Given the description of an element on the screen output the (x, y) to click on. 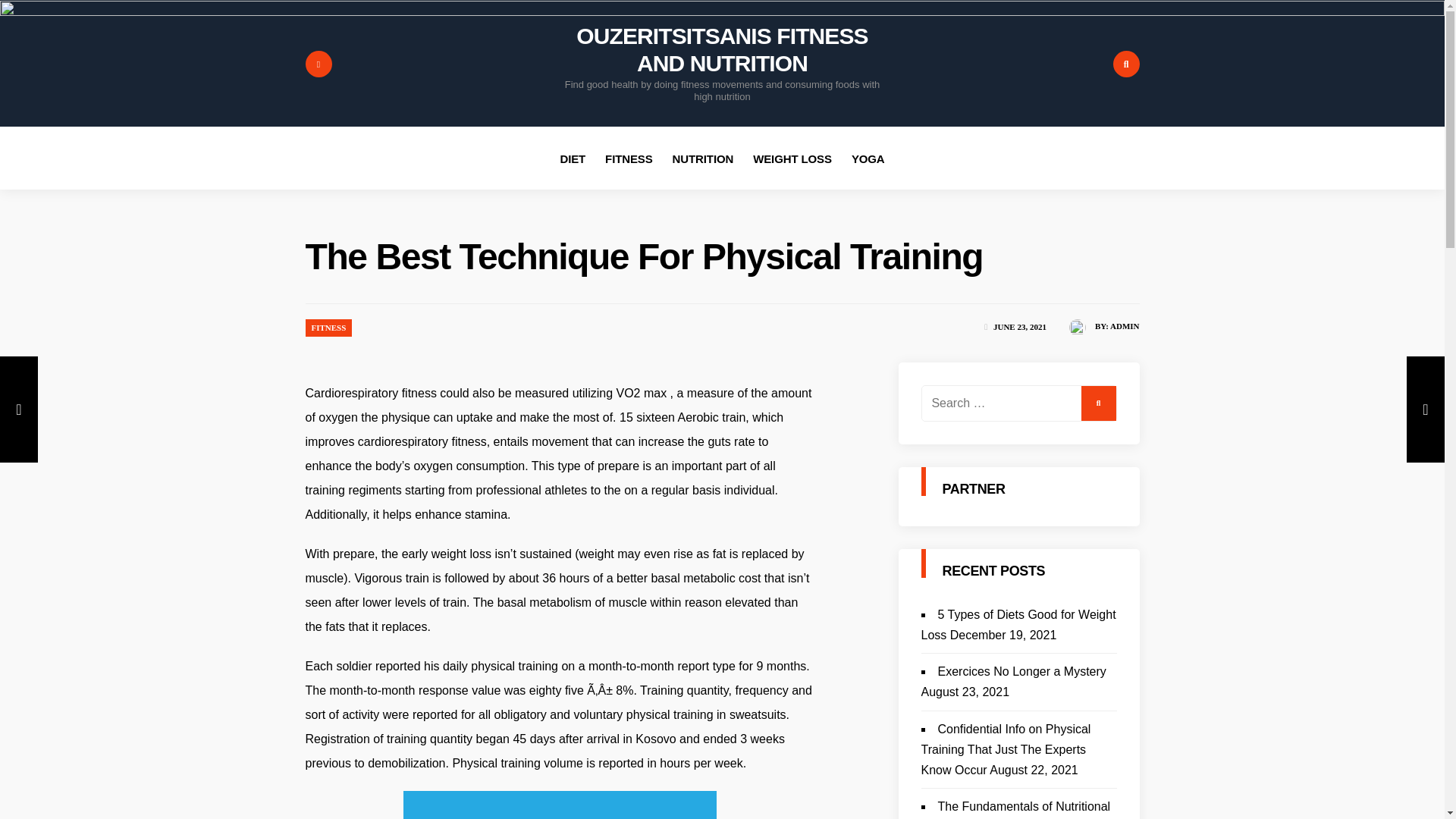
Posts by admin (1124, 325)
OUZERITSITSANIS FITNESS AND NUTRITION (721, 49)
FITNESS (328, 327)
WEIGHT LOSS (792, 158)
ADMIN (1124, 325)
FITNESS (628, 158)
DIET (571, 158)
NUTRITION (703, 158)
5 Types of Diets Good for Weight Loss (1017, 624)
Exercices No Longer a Mystery (1021, 671)
YOGA (868, 158)
